Given the description of an element on the screen output the (x, y) to click on. 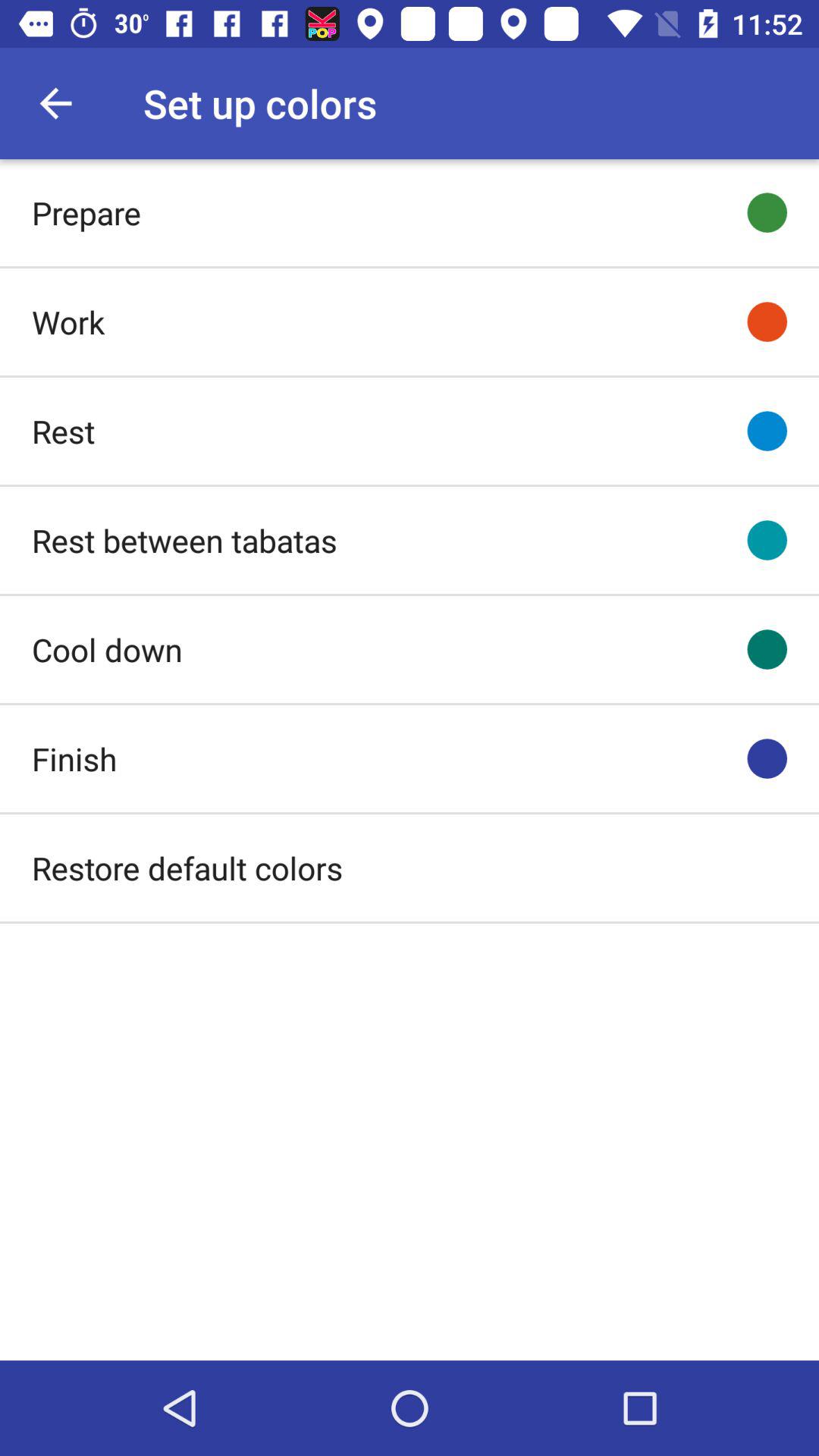
swipe to the cool down icon (106, 649)
